Given the description of an element on the screen output the (x, y) to click on. 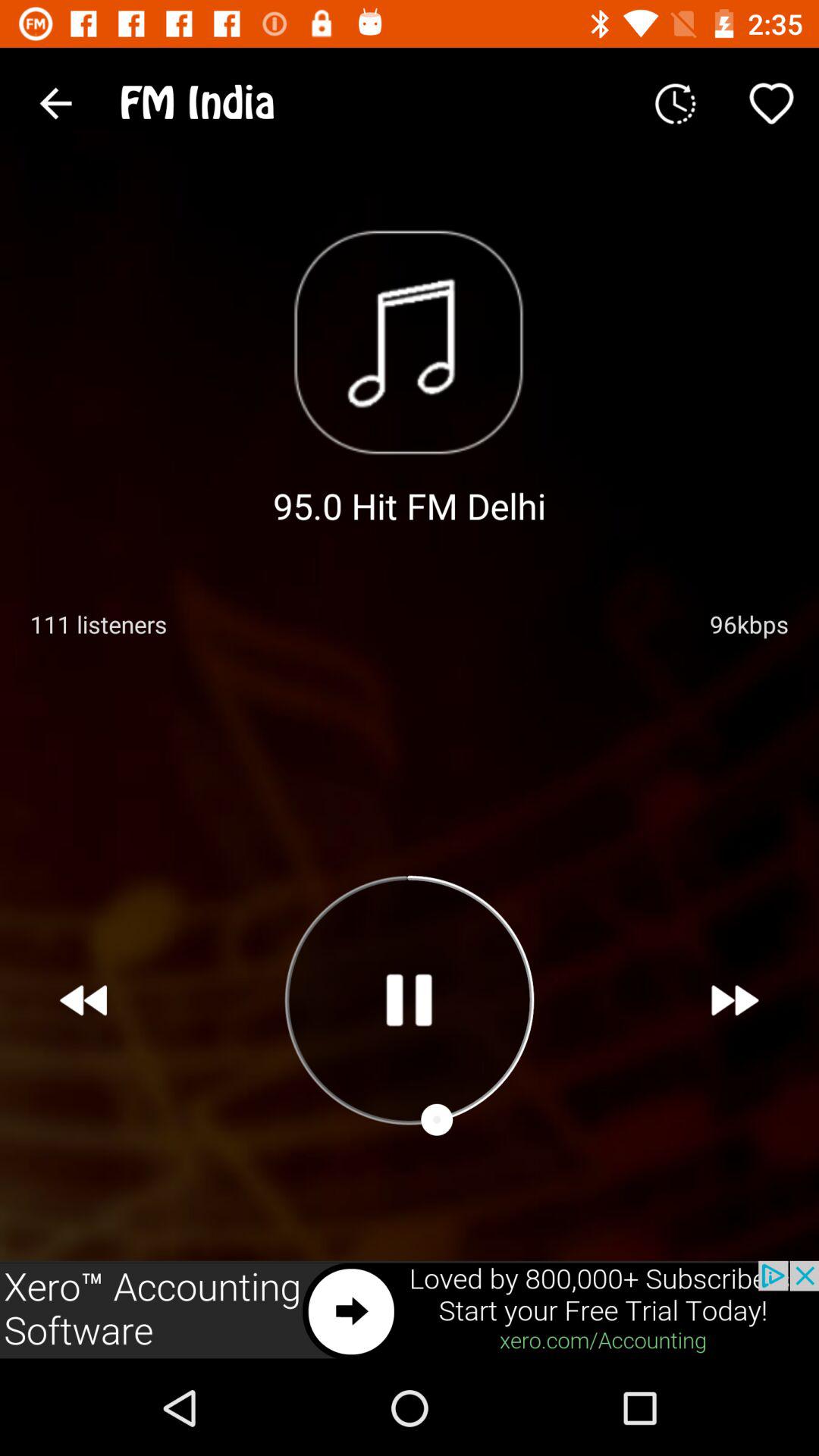
go to previous song (83, 1000)
